Given the description of an element on the screen output the (x, y) to click on. 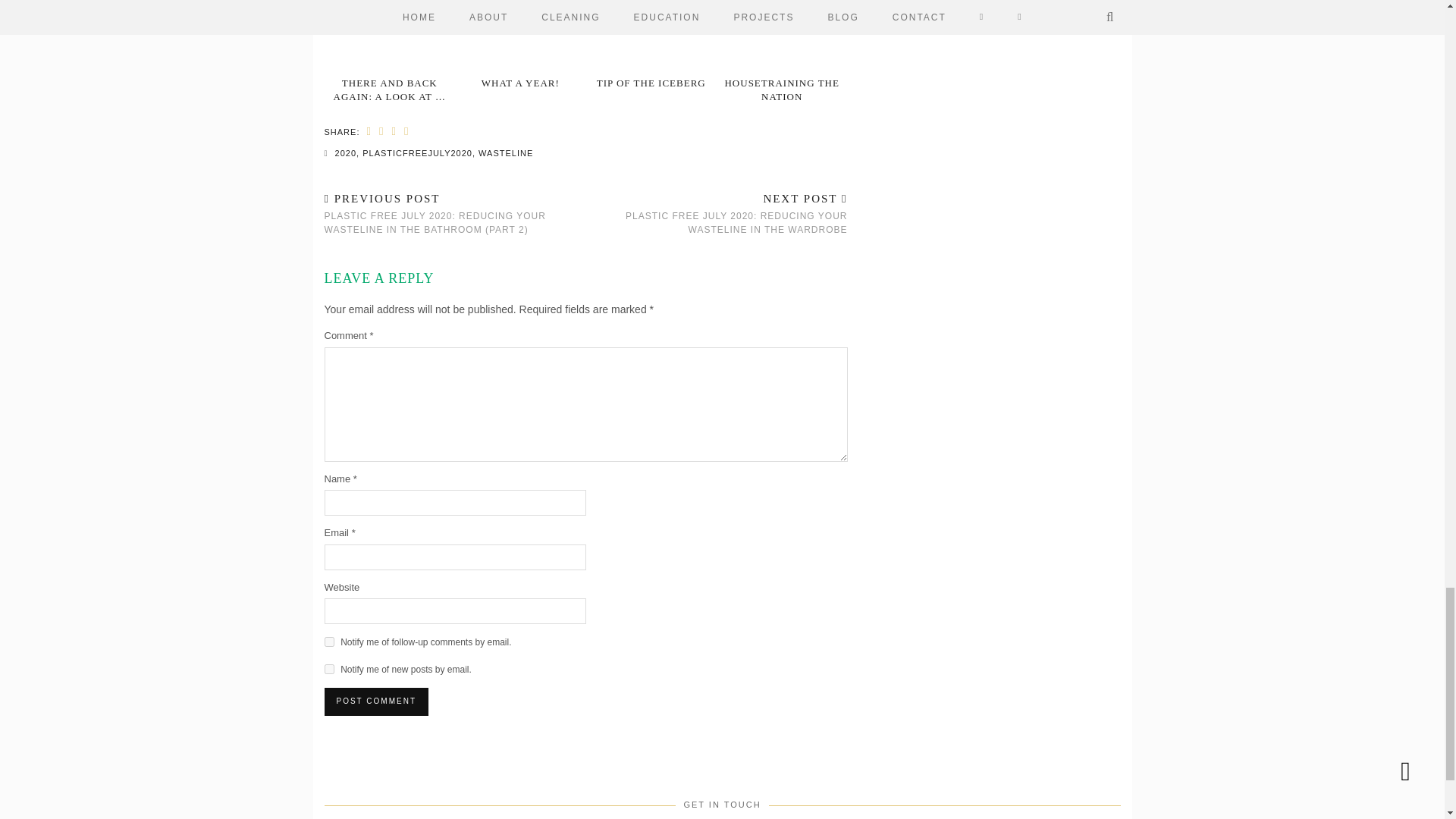
Housetraining the Nation (780, 89)
There and Back Again: A Look at Litter in the US (389, 89)
Tip of the Iceberg (651, 36)
Post Comment (376, 700)
What a Year! (520, 36)
Tip of the Iceberg (651, 82)
Housetraining the Nation (781, 36)
What a Year! (520, 82)
subscribe (329, 669)
There and Back Again: A Look at Litter in the US (389, 36)
